Given the description of an element on the screen output the (x, y) to click on. 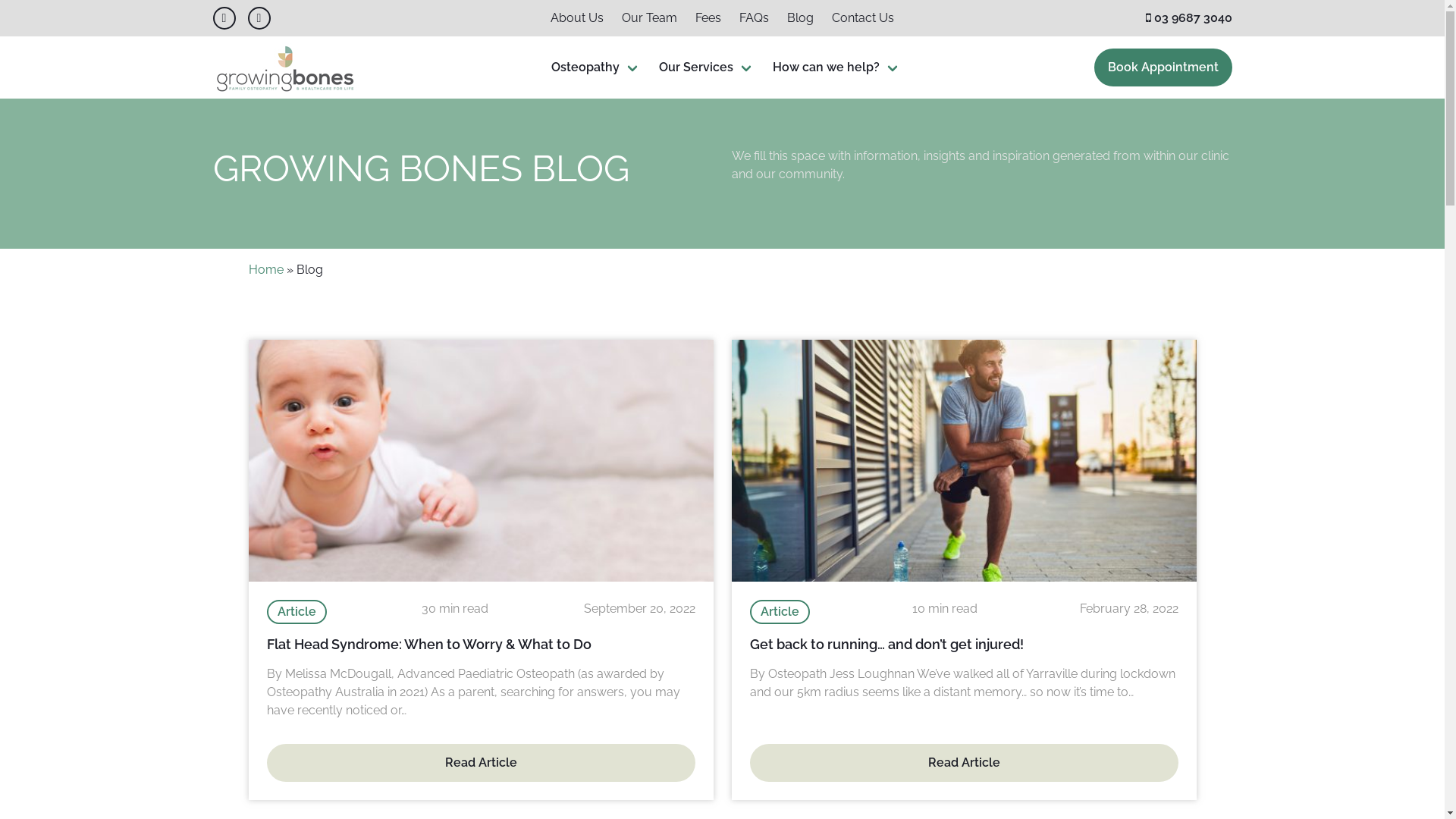
Contact Us Element type: text (862, 17)
Osteopathy Element type: text (595, 67)
Our Team Element type: text (649, 17)
Fees Element type: text (708, 17)
Blog Element type: text (800, 17)
How can we help? Element type: text (836, 67)
03 9687 3040 Element type: text (1188, 17)
Flat Head Syndrome: When to Worry & What to Do Element type: text (428, 644)
Home Element type: text (265, 269)
Book Appointment Element type: text (1162, 67)
Read Article Element type: text (963, 762)
About Us Element type: text (576, 17)
Read Article Element type: text (480, 762)
Our Services Element type: text (706, 67)
FAQs Element type: text (754, 17)
